Given the description of an element on the screen output the (x, y) to click on. 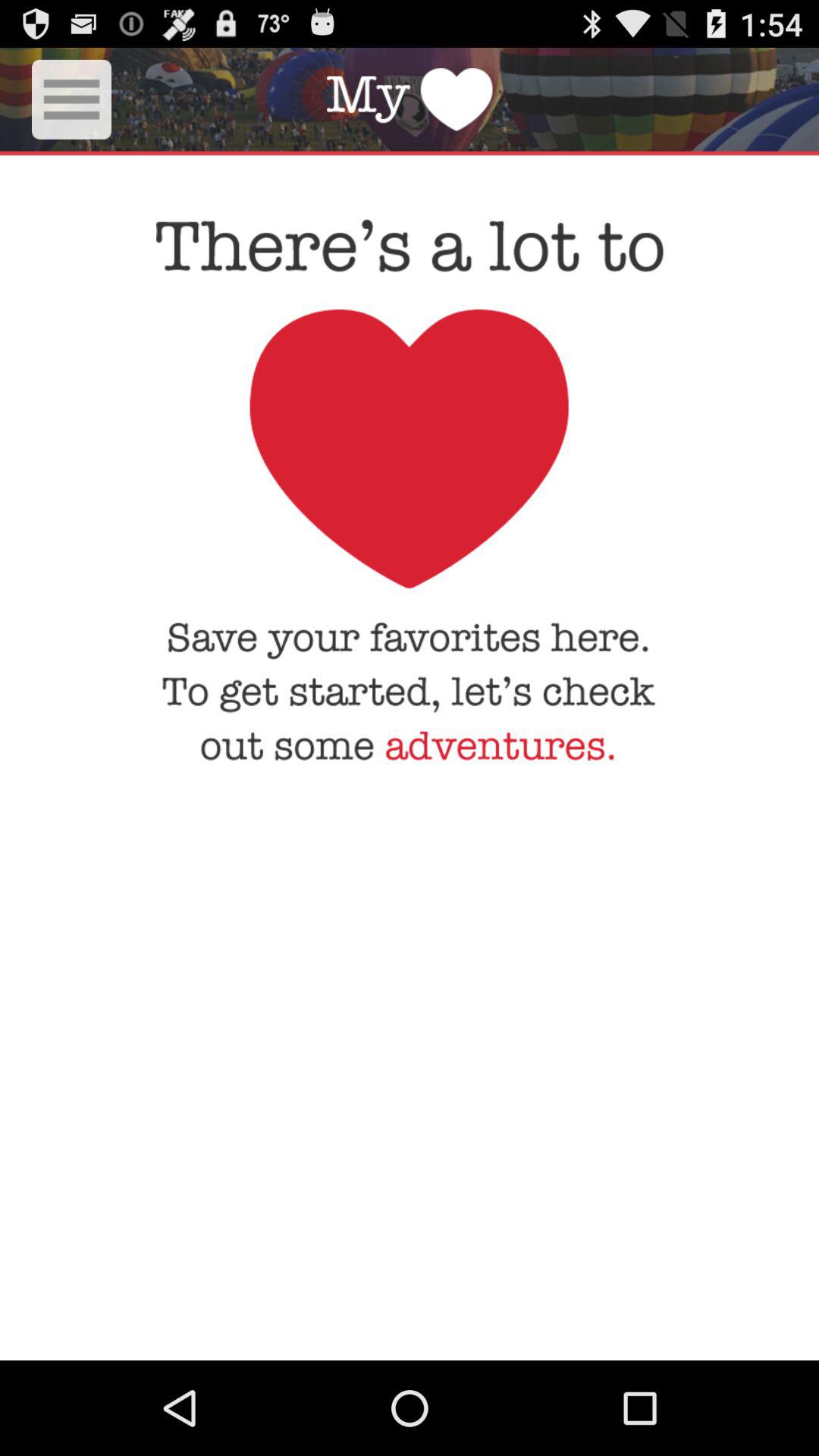
show listings (71, 99)
